Given the description of an element on the screen output the (x, y) to click on. 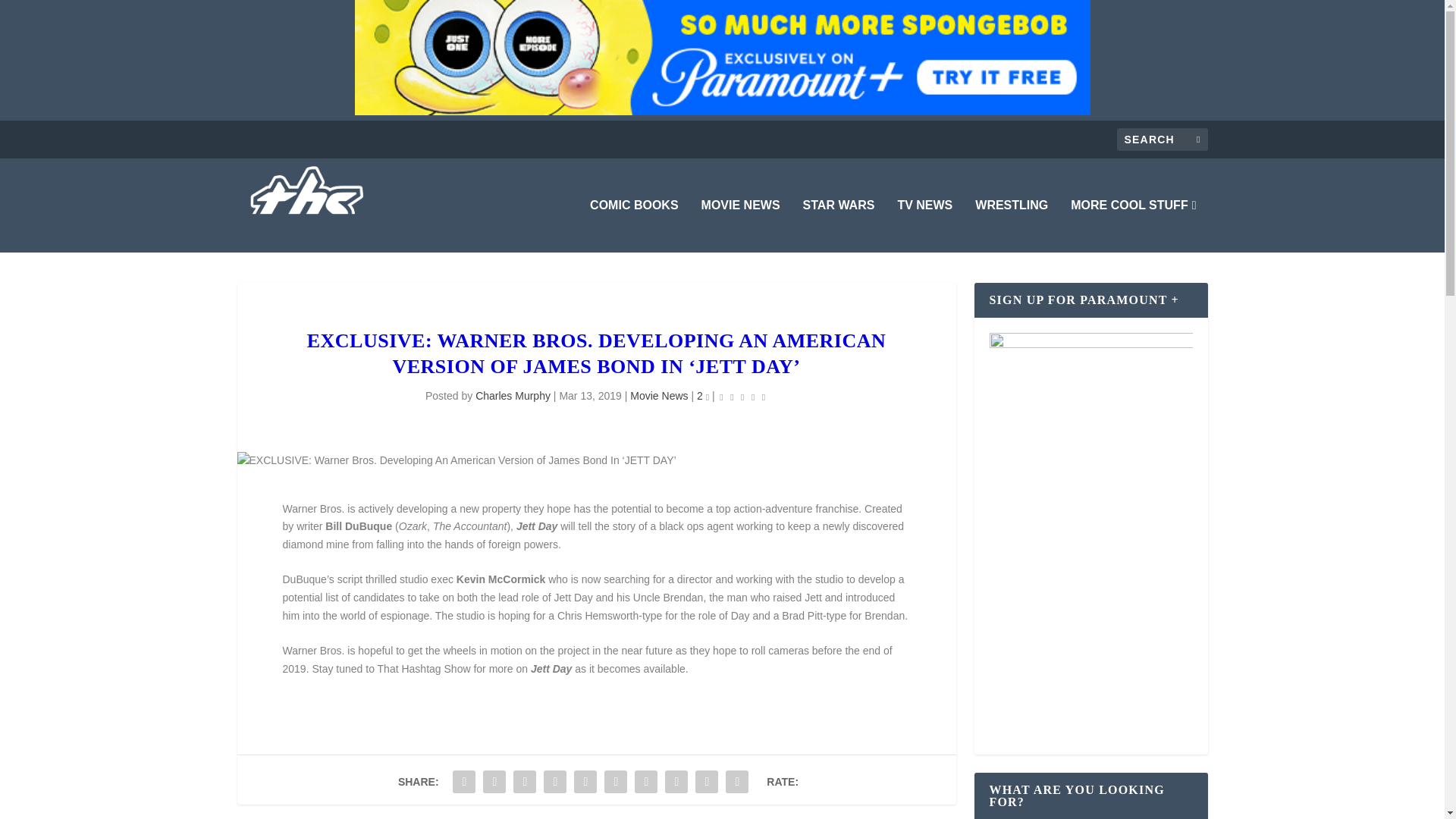
TV NEWS (924, 225)
2 (703, 395)
WRESTLING (1011, 225)
STAR WARS (839, 225)
MORE COOL STUFF (1132, 225)
Movie News (658, 395)
MOVIE NEWS (740, 225)
Posts by Charles Murphy (513, 395)
Charles Murphy (513, 395)
Search for: (1161, 138)
COMIC BOOKS (633, 225)
Rating: 0.00 (742, 396)
